Given the description of an element on the screen output the (x, y) to click on. 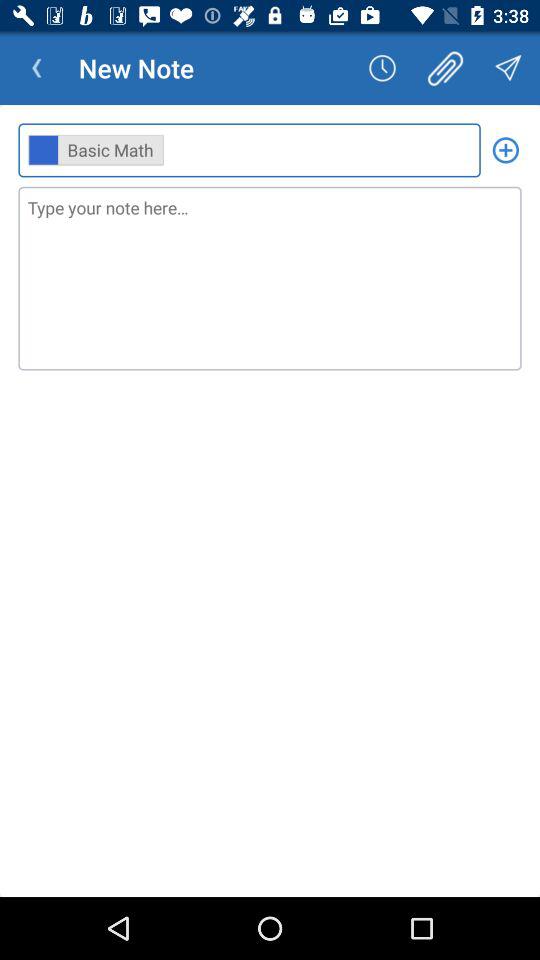
press app next to the new note item (36, 68)
